Given the description of an element on the screen output the (x, y) to click on. 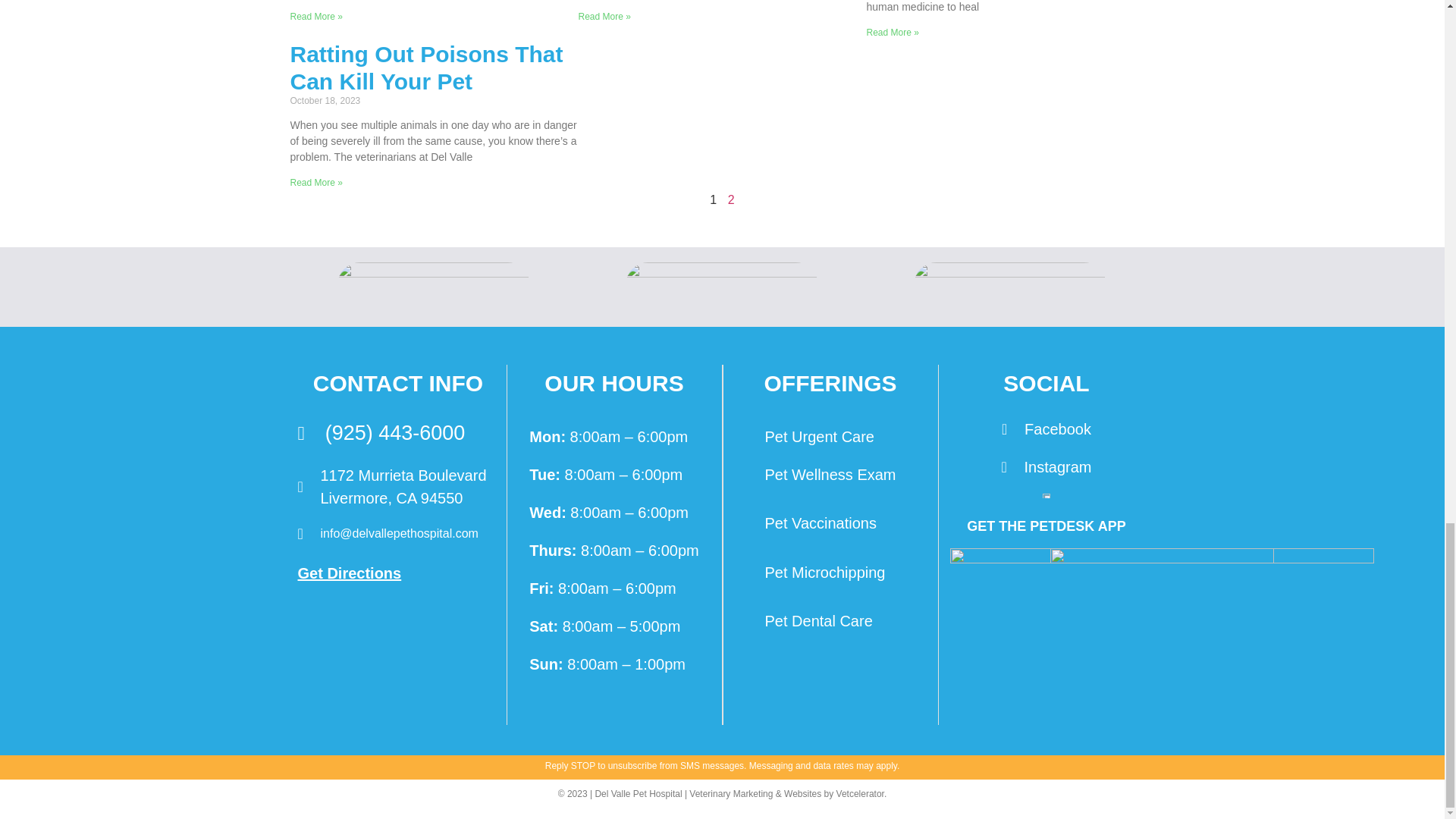
1172 Murrieta Boulevard Livermore, CA 94550 (397, 656)
